Given the description of an element on the screen output the (x, y) to click on. 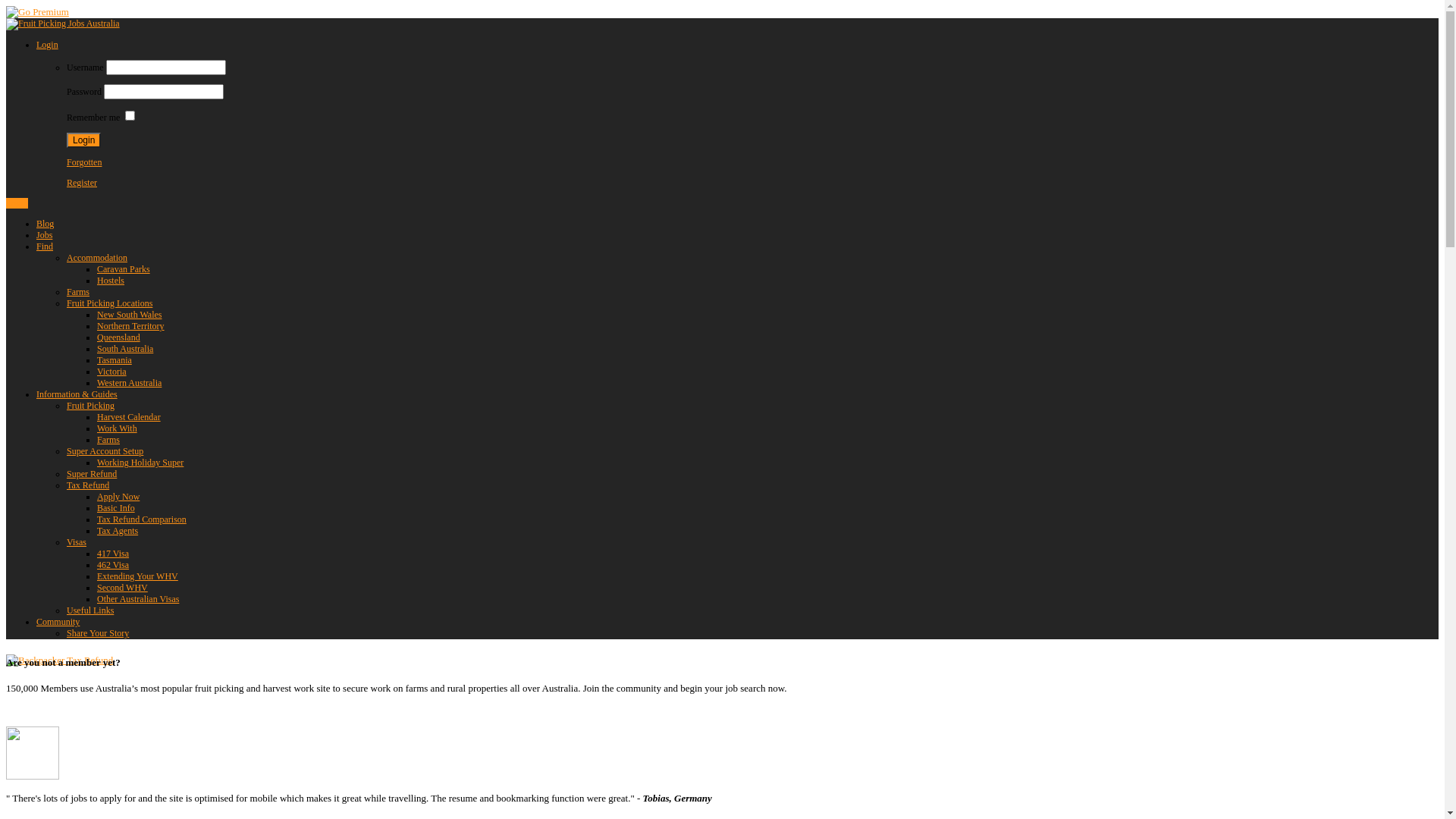
Second WHV Element type: text (122, 587)
Victoria Element type: text (111, 371)
Blog Element type: text (44, 223)
Tax Refund Comparison Element type: text (141, 519)
Jobs Element type: text (44, 234)
Western Australia Element type: text (129, 382)
417 Visa Element type: text (112, 553)
Basic Info Element type: text (115, 507)
Queensland Element type: text (118, 337)
Super Account Setup Element type: text (104, 450)
Work With Element type: text (117, 428)
462 Visa Element type: text (112, 564)
Forgotten Element type: text (83, 161)
Fruit Picking Locations Element type: text (109, 303)
Tasmania Element type: text (114, 359)
Share Your Story Element type: text (97, 632)
Information & Guides Element type: text (76, 394)
Useful Links Element type: text (89, 610)
Farms Element type: text (77, 291)
Find Element type: text (44, 246)
Working Holiday Super Element type: text (140, 462)
Tax Agents Element type: text (117, 530)
Tax Refund Element type: text (87, 485)
Harvest Calendar Element type: text (128, 416)
New South Wales Element type: text (129, 314)
Login Element type: text (17, 202)
Apply Now Element type: text (118, 496)
South Australia Element type: text (125, 348)
Caravan Parks Element type: text (123, 268)
Super Refund Element type: text (91, 473)
Northern Territory Element type: text (130, 325)
Accommodation Element type: text (96, 257)
Extending Your WHV Element type: text (137, 576)
Login Element type: text (83, 139)
Fruit Picking Jobs Australia Element type: hover (62, 23)
Other Australian Visas Element type: text (137, 598)
Hostels Element type: text (110, 280)
Register Element type: text (81, 182)
Farms Element type: text (108, 439)
Fruit Picking Element type: text (90, 405)
Login Element type: text (47, 44)
Visas Element type: text (76, 541)
Community Element type: text (57, 621)
